Given the description of an element on the screen output the (x, y) to click on. 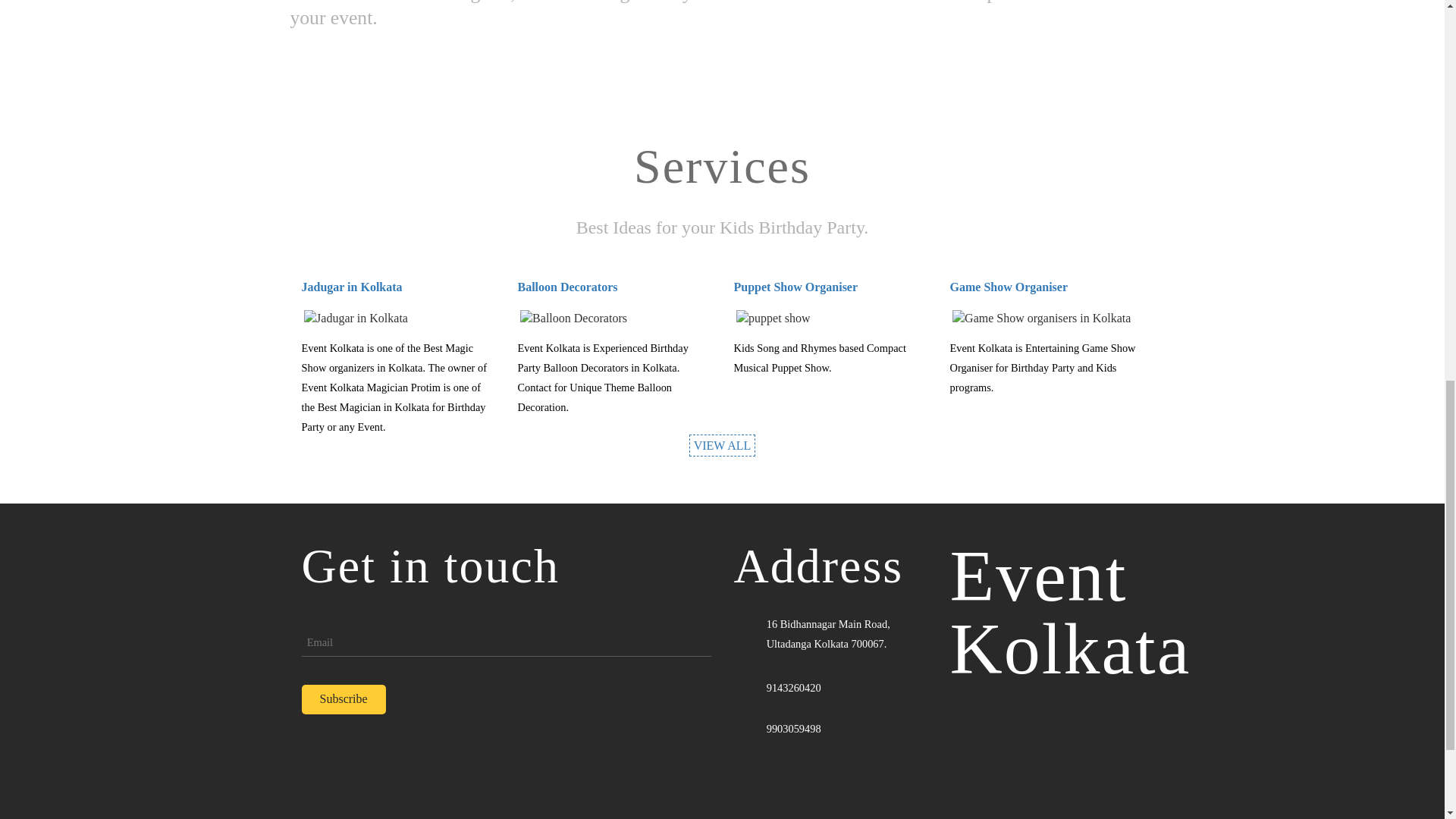
Puppet Show Organiser (796, 286)
Event Kolkata (1070, 612)
Subscribe (343, 699)
Game Show Organiser (1008, 286)
Subscribe (343, 699)
Jadugar in Kolkata (352, 286)
Balloon Decorators (566, 286)
VIEW ALL (721, 445)
